Given the description of an element on the screen output the (x, y) to click on. 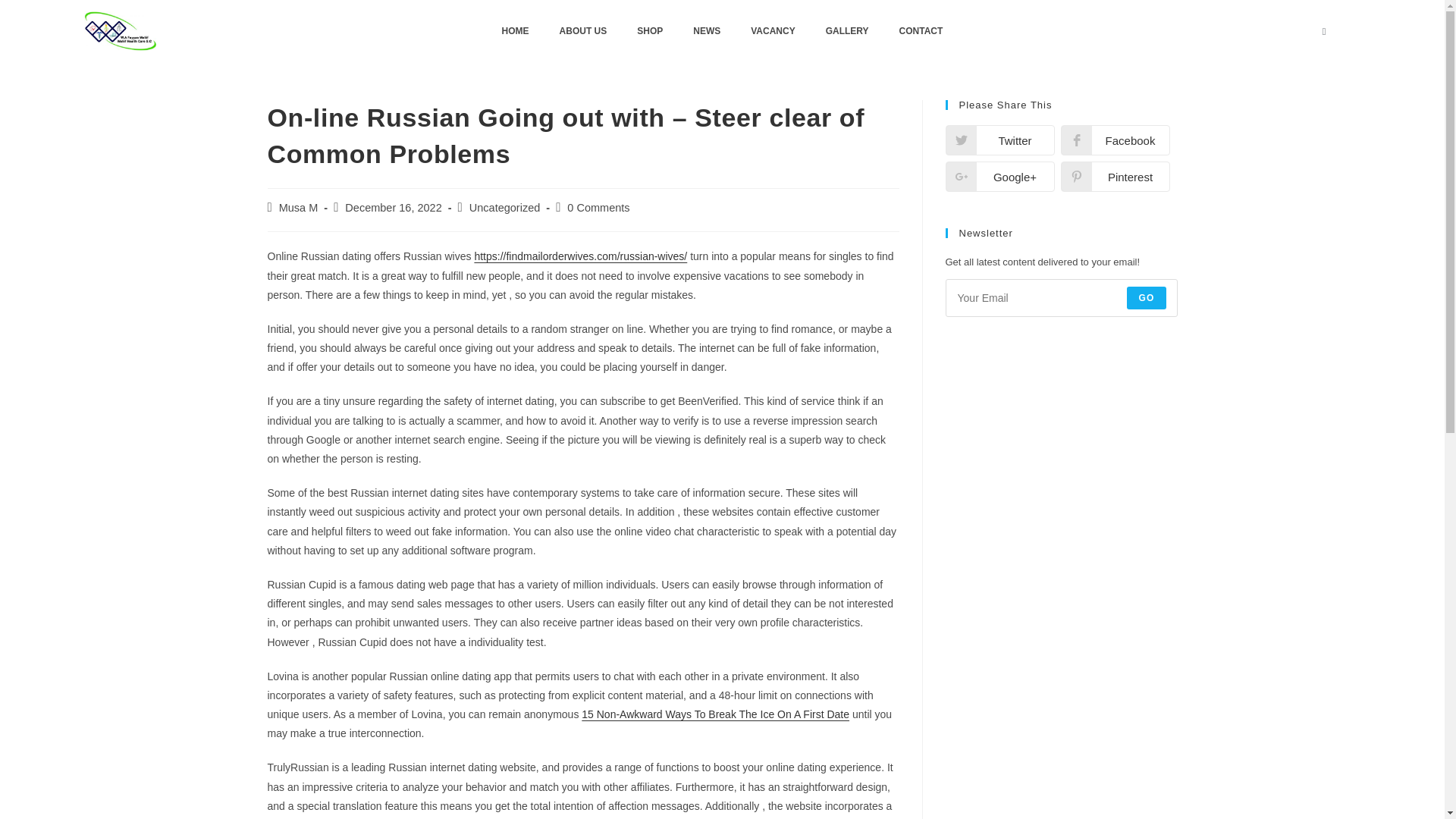
Share on Facebook (1114, 140)
Musa M (298, 207)
GALLERY (846, 30)
Share on Twitter (999, 140)
VACANCY (772, 30)
CONTACT (920, 30)
NEWS (706, 30)
0 Comments (597, 207)
Twitter (999, 140)
Posts by Musa M (298, 207)
HOME (515, 30)
ABOUT US (583, 30)
Uncategorized (504, 207)
15 Non-Awkward Ways To Break The Ice On A First Date (714, 714)
Share on Pinterest (1114, 176)
